Given the description of an element on the screen output the (x, y) to click on. 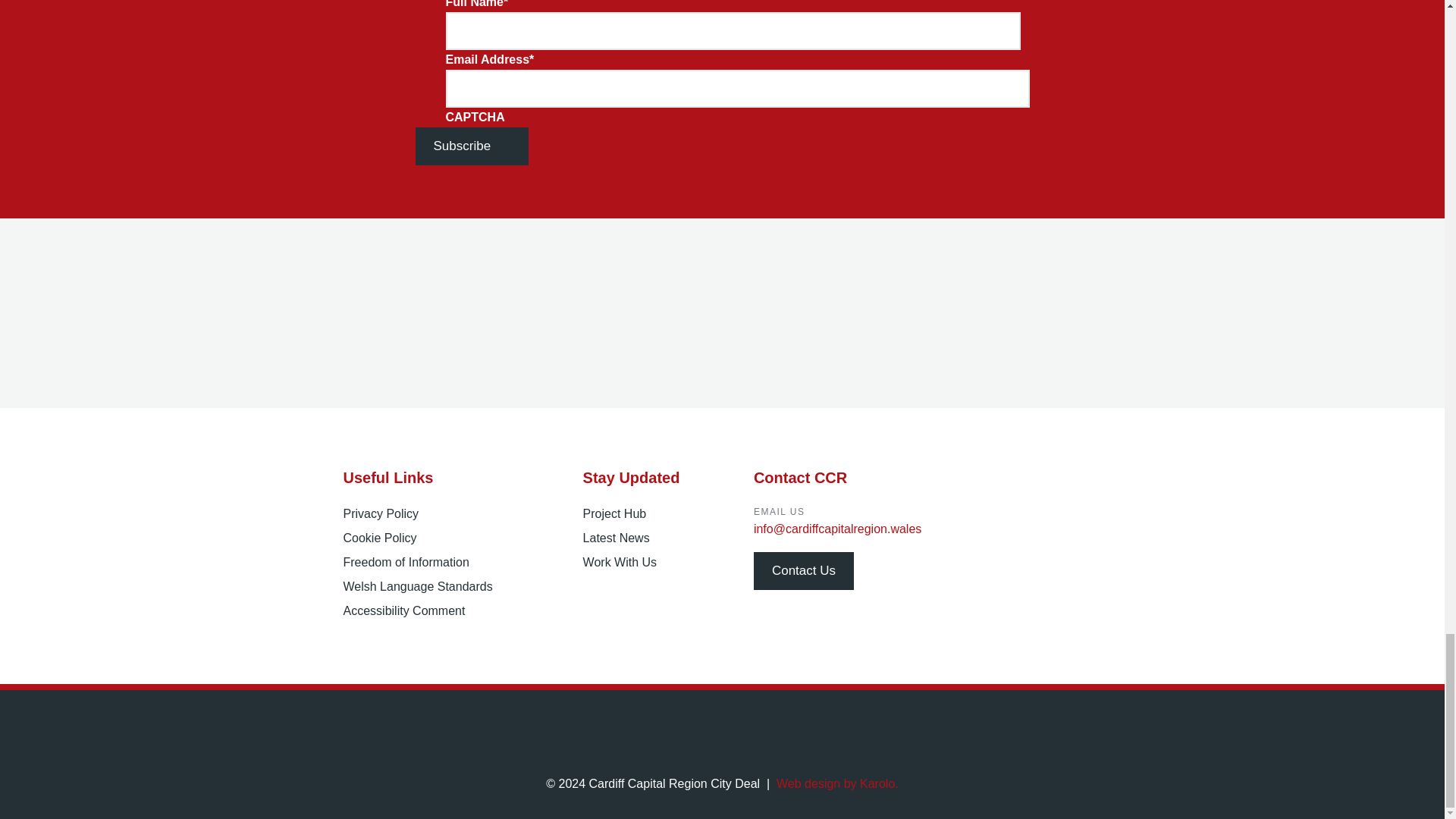
Subscribe (471, 145)
